Given the description of an element on the screen output the (x, y) to click on. 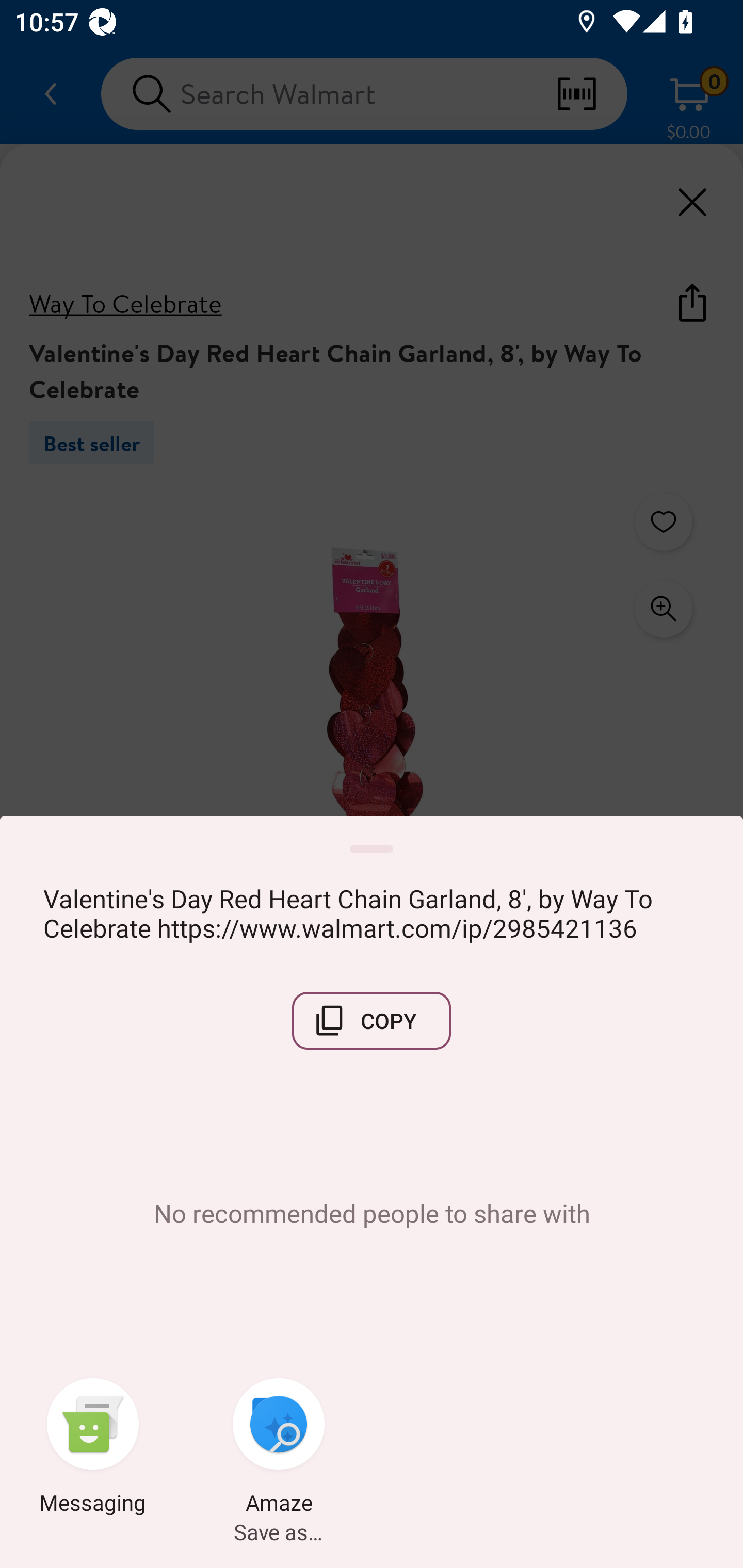
COPY (371, 1020)
Messaging (92, 1448)
Amaze Save as… (278, 1448)
